Given the description of an element on the screen output the (x, y) to click on. 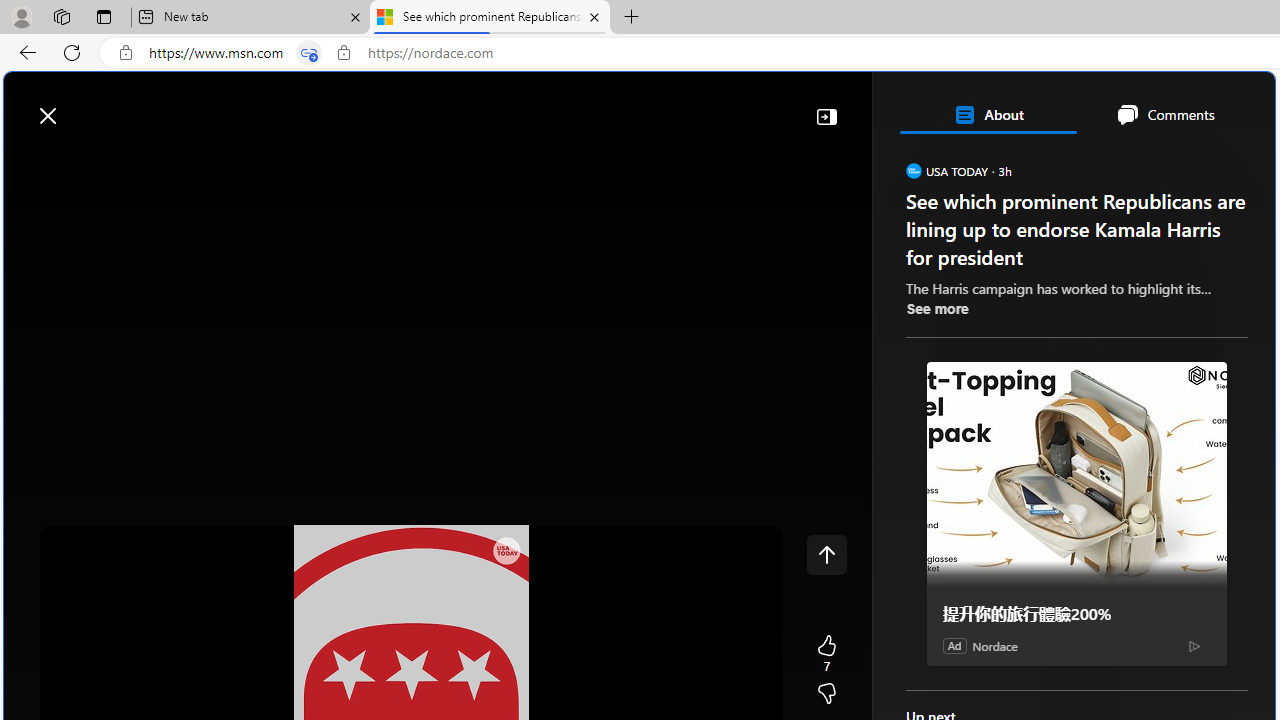
Open settings (1230, 105)
Web search (283, 105)
Class: control icon-only (826, 554)
Personalize (1195, 162)
